Given the description of an element on the screen output the (x, y) to click on. 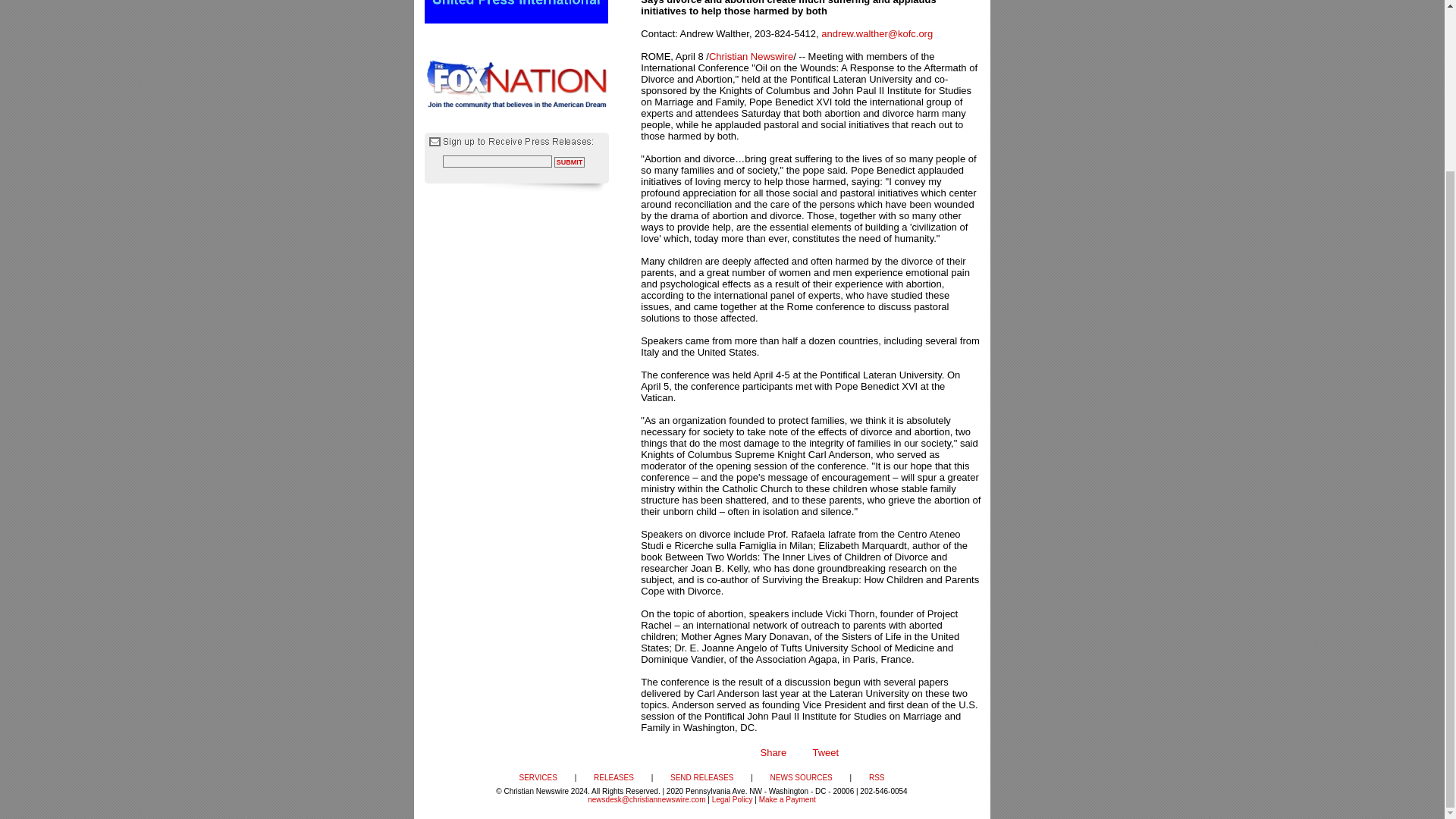
Share (773, 752)
United Press International (516, 11)
NEWS SOURCES (801, 777)
SEND RELEASES (701, 777)
Christian Newswire (751, 56)
Legal Policy (731, 799)
RSS (877, 777)
Tweet (825, 752)
RELEASES (613, 777)
SUBMIT (569, 162)
